Given the description of an element on the screen output the (x, y) to click on. 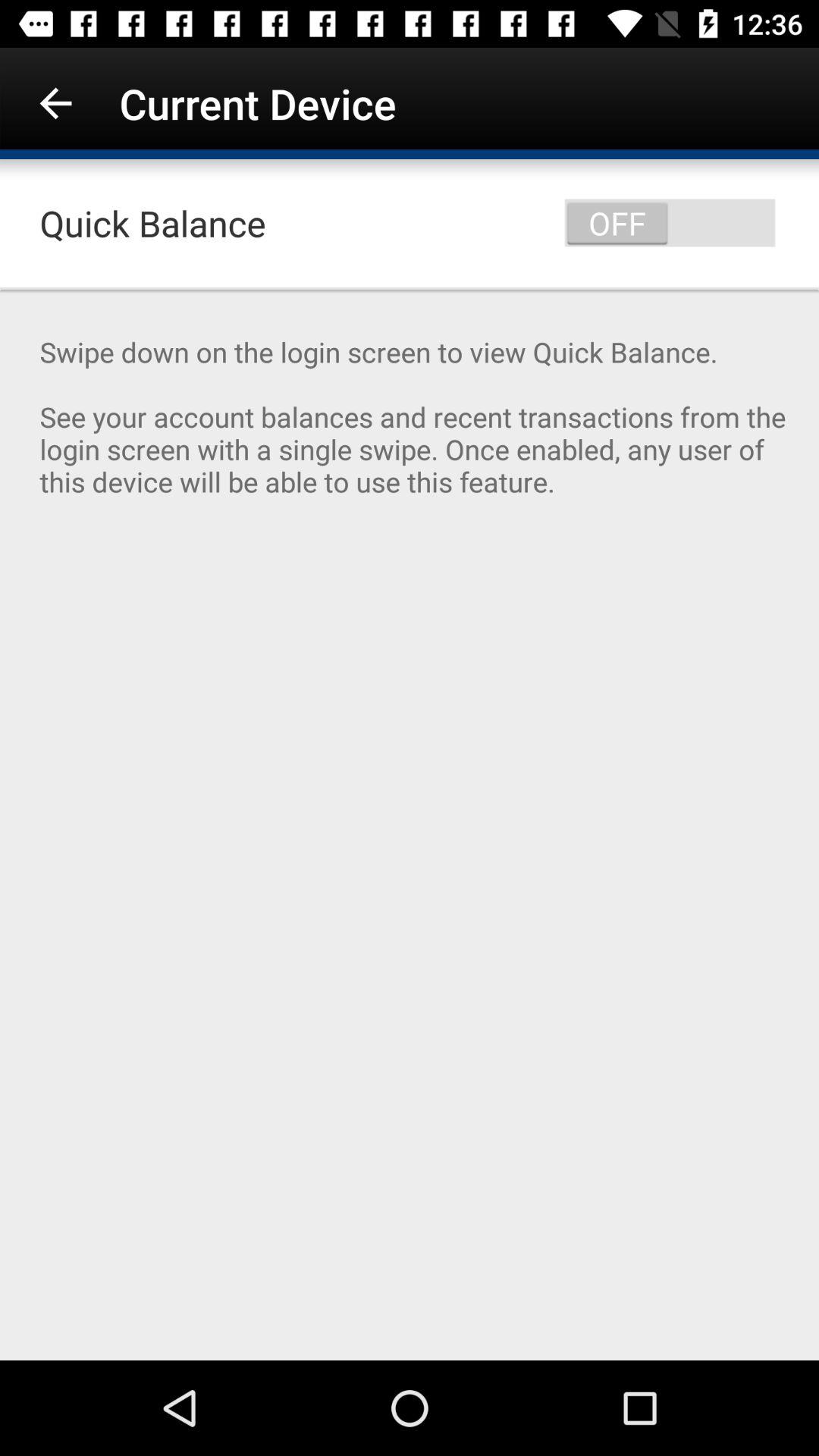
select the app to the left of current device item (55, 103)
